Given the description of an element on the screen output the (x, y) to click on. 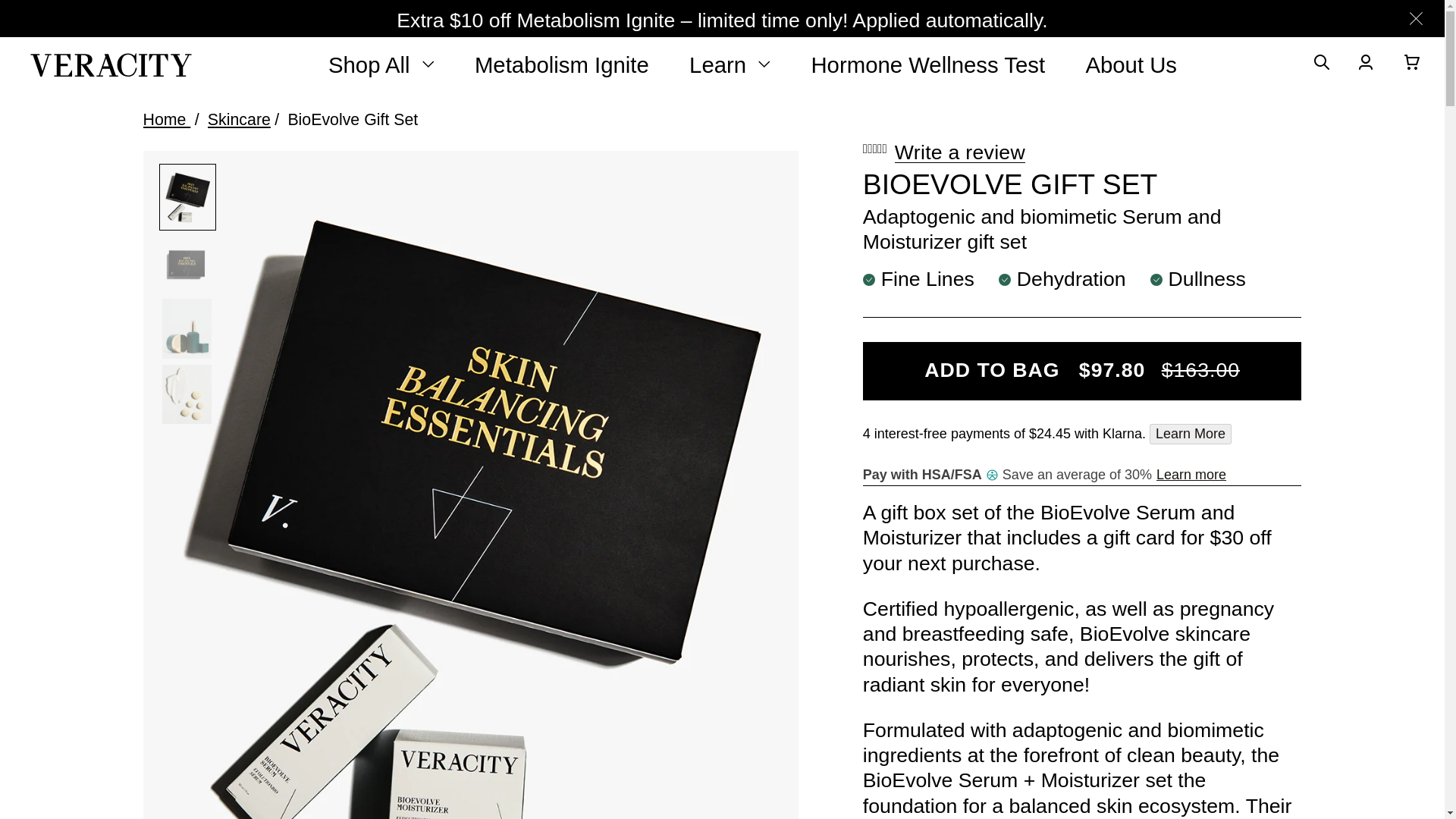
Hormone Wellness Test (927, 64)
Metabolism Ignite (561, 64)
Search (1323, 64)
Account (1368, 64)
Learn (729, 64)
Veracity Selfcare (111, 64)
Cart (1415, 64)
About Us (1130, 64)
Shop All (381, 64)
